Given the description of an element on the screen output the (x, y) to click on. 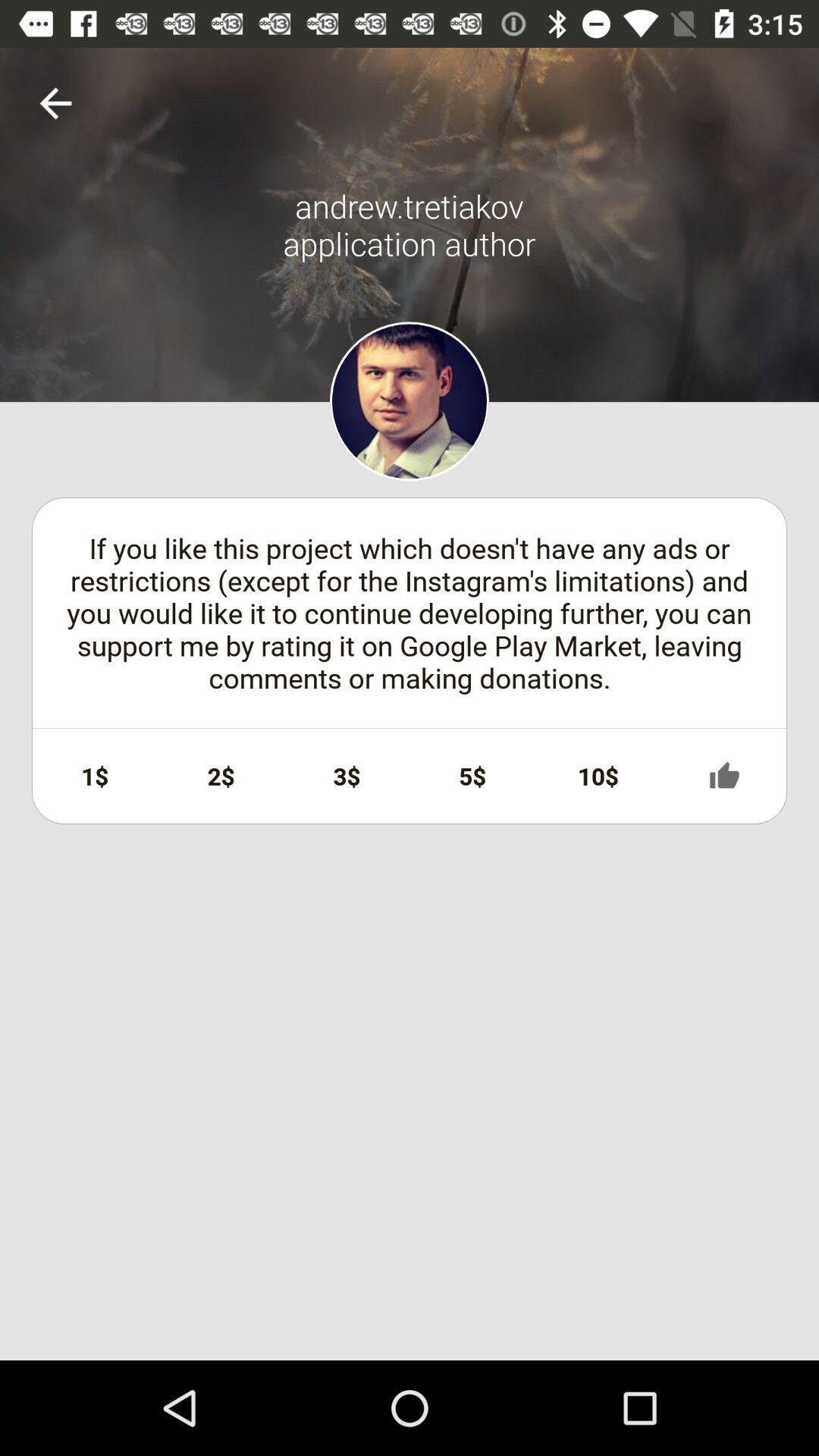
view profile photo (409, 401)
